Given the description of an element on the screen output the (x, y) to click on. 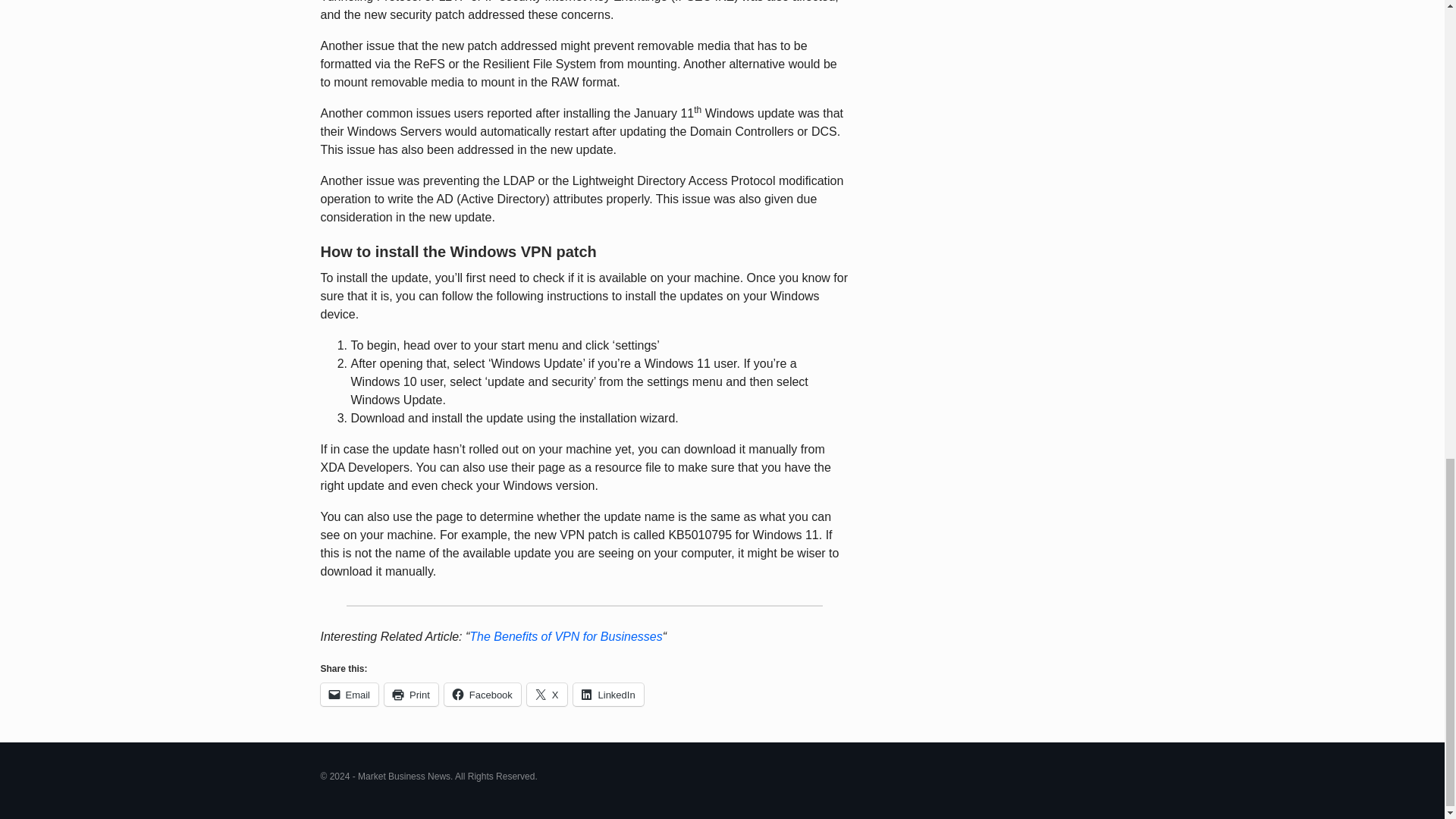
Click to share on X (547, 694)
Facebook (482, 694)
Click to print (411, 694)
Print (411, 694)
Click to email a link to a friend (349, 694)
Email (349, 694)
X (547, 694)
The Benefits of VPN for Businesses (565, 635)
Click to share on LinkedIn (608, 694)
Click to share on Facebook (482, 694)
LinkedIn (608, 694)
